Given the description of an element on the screen output the (x, y) to click on. 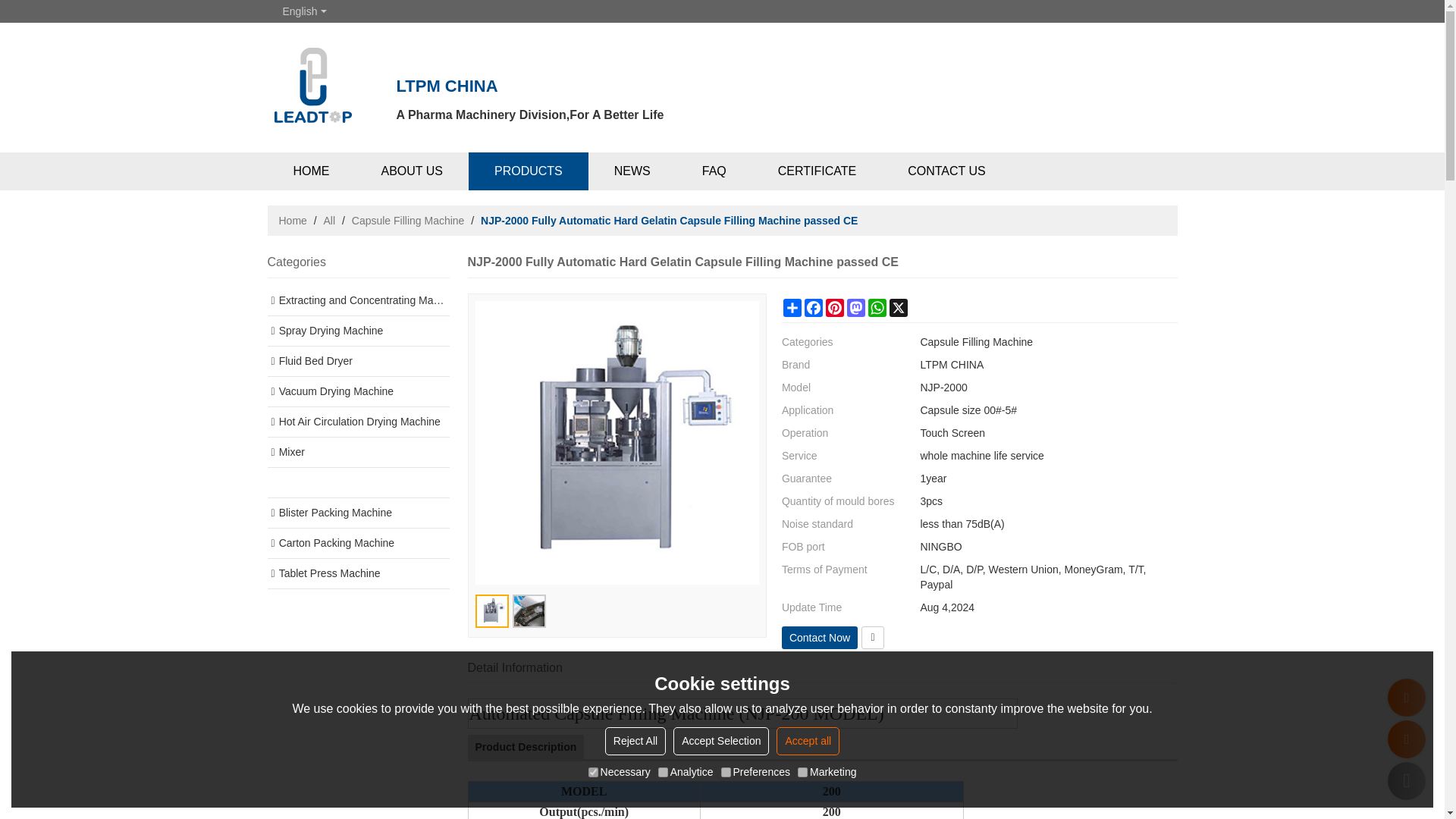
Hot Air Circulation Drying Machine (357, 421)
Extracting and Concentrating Machine (357, 300)
Home (293, 220)
Vacuum Drying Machine (357, 391)
NEWS (632, 171)
FAQ (714, 171)
PRODUCTS (528, 171)
on (725, 772)
Capsule Filling Machine (408, 220)
PRODUCTS (528, 171)
